Given the description of an element on the screen output the (x, y) to click on. 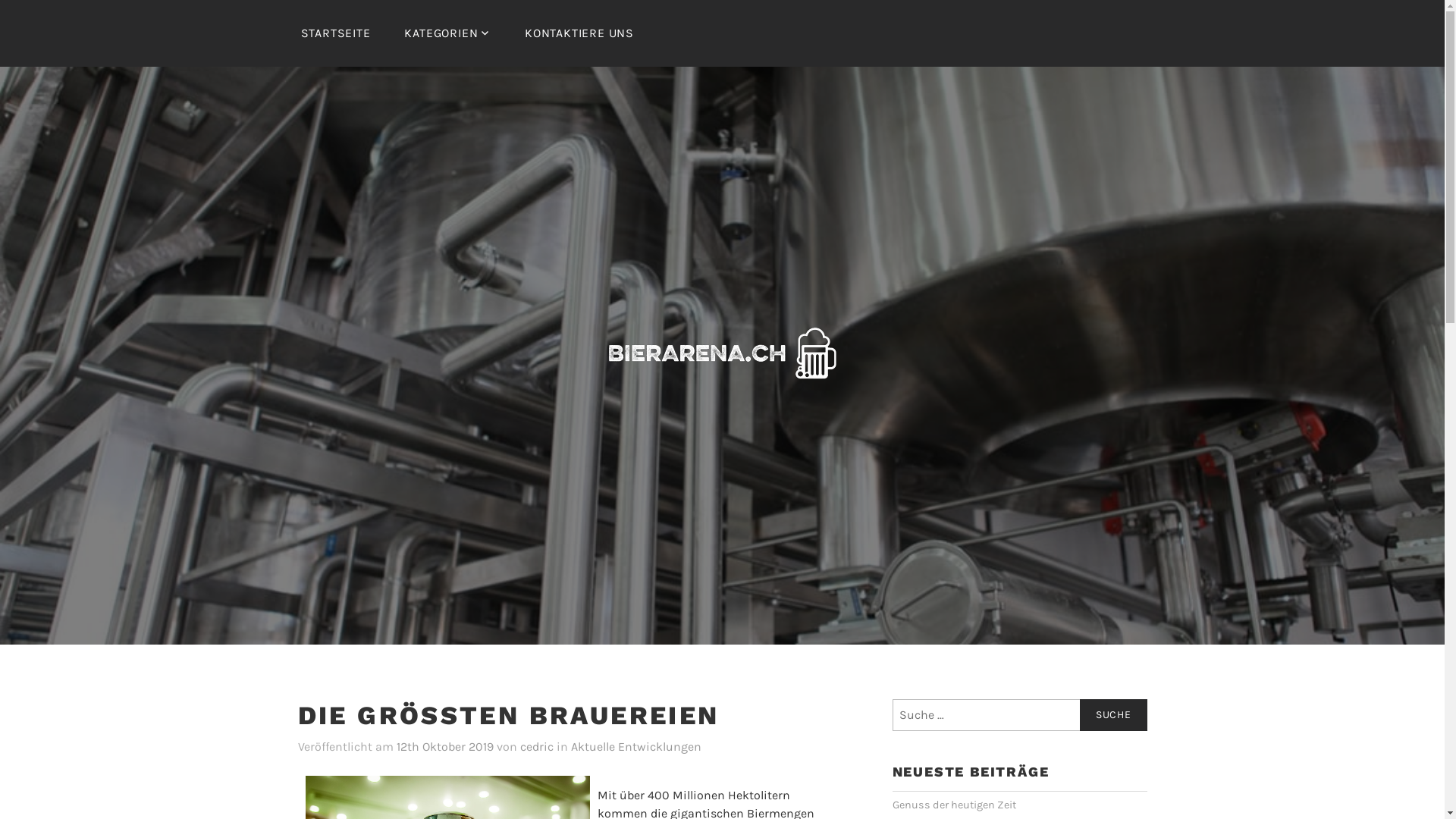
KATEGORIEN Element type: text (447, 33)
Aktuelle Entwicklungen Element type: text (635, 747)
STARTSEITE Element type: text (335, 33)
KONTAKTIERE UNS Element type: text (579, 33)
Suche Element type: text (1113, 715)
Zum Inhalt springen Element type: text (0, 0)
Genuss der heutigen Zeit Element type: text (953, 805)
BIERARENA.CH Element type: text (801, 418)
cedric Element type: text (536, 747)
12th Oktober 2019 Element type: text (443, 747)
